Given the description of an element on the screen output the (x, y) to click on. 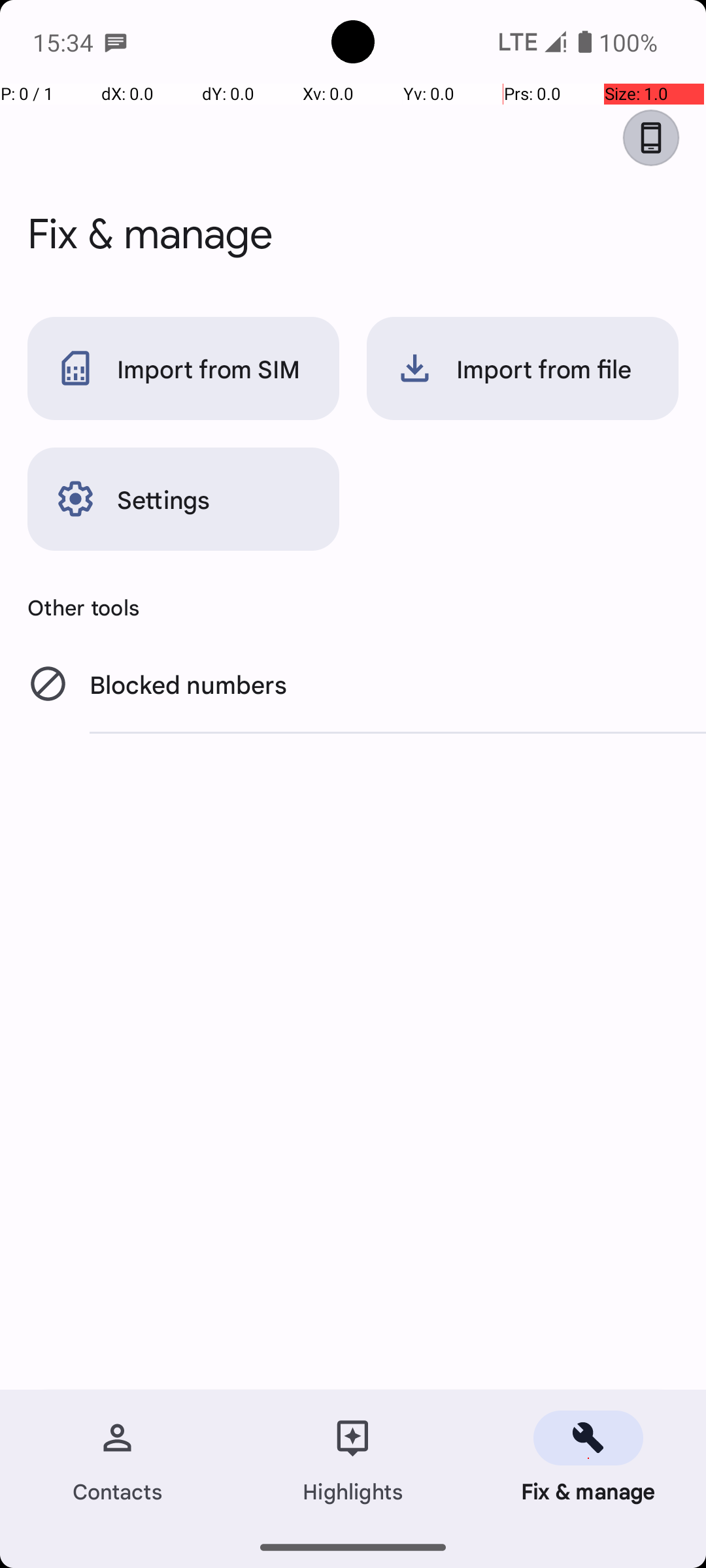
Other tools Element type: android.widget.TextView (353, 606)
Import from SIM Element type: android.widget.TextView (183, 368)
Import from file Element type: android.widget.TextView (522, 368)
